Given the description of an element on the screen output the (x, y) to click on. 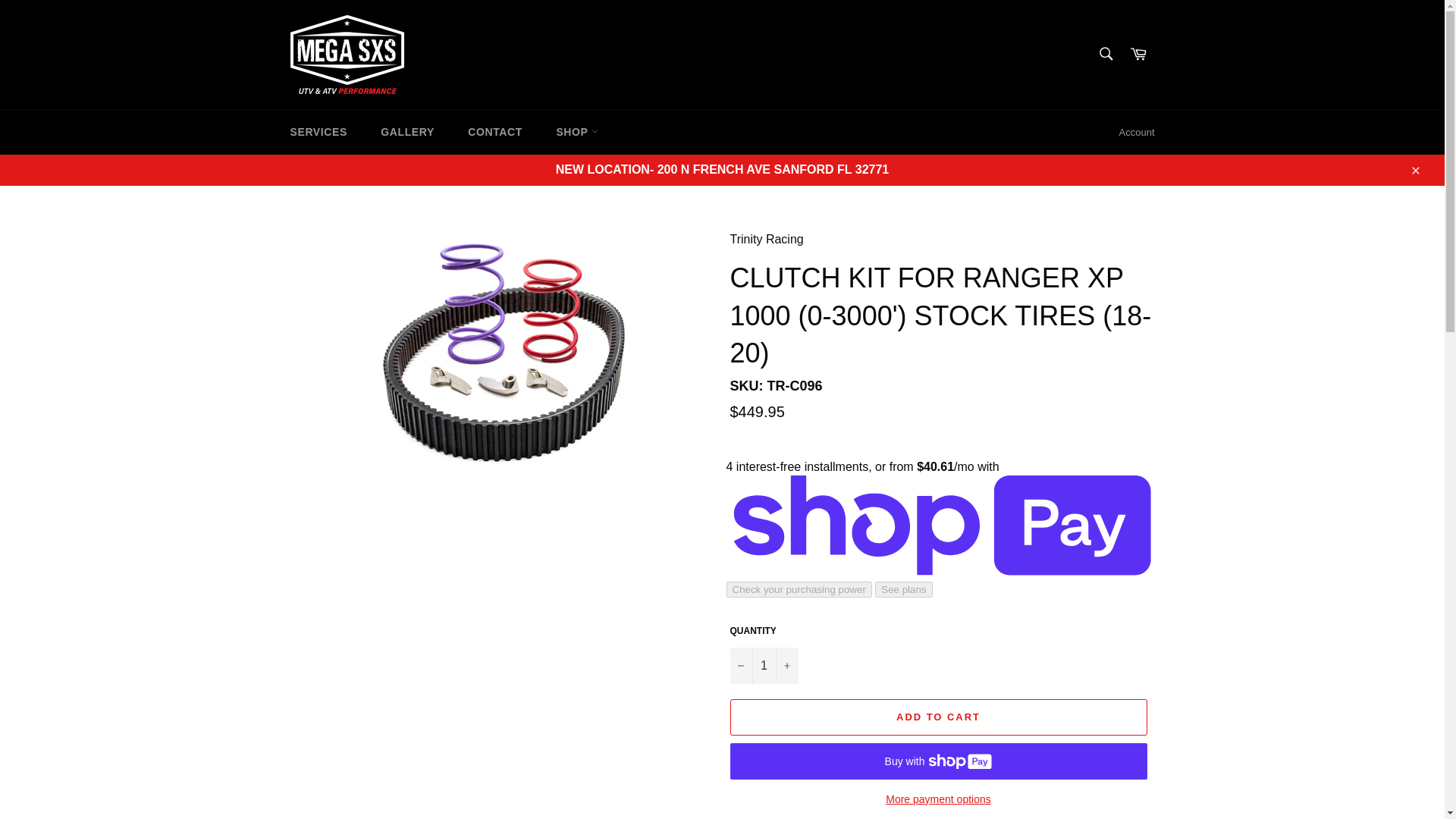
SERVICES (318, 131)
SHOP (576, 131)
GALLERY (407, 131)
CONTACT (494, 131)
Cart (1138, 54)
Search (1104, 53)
1 (763, 665)
